Given the description of an element on the screen output the (x, y) to click on. 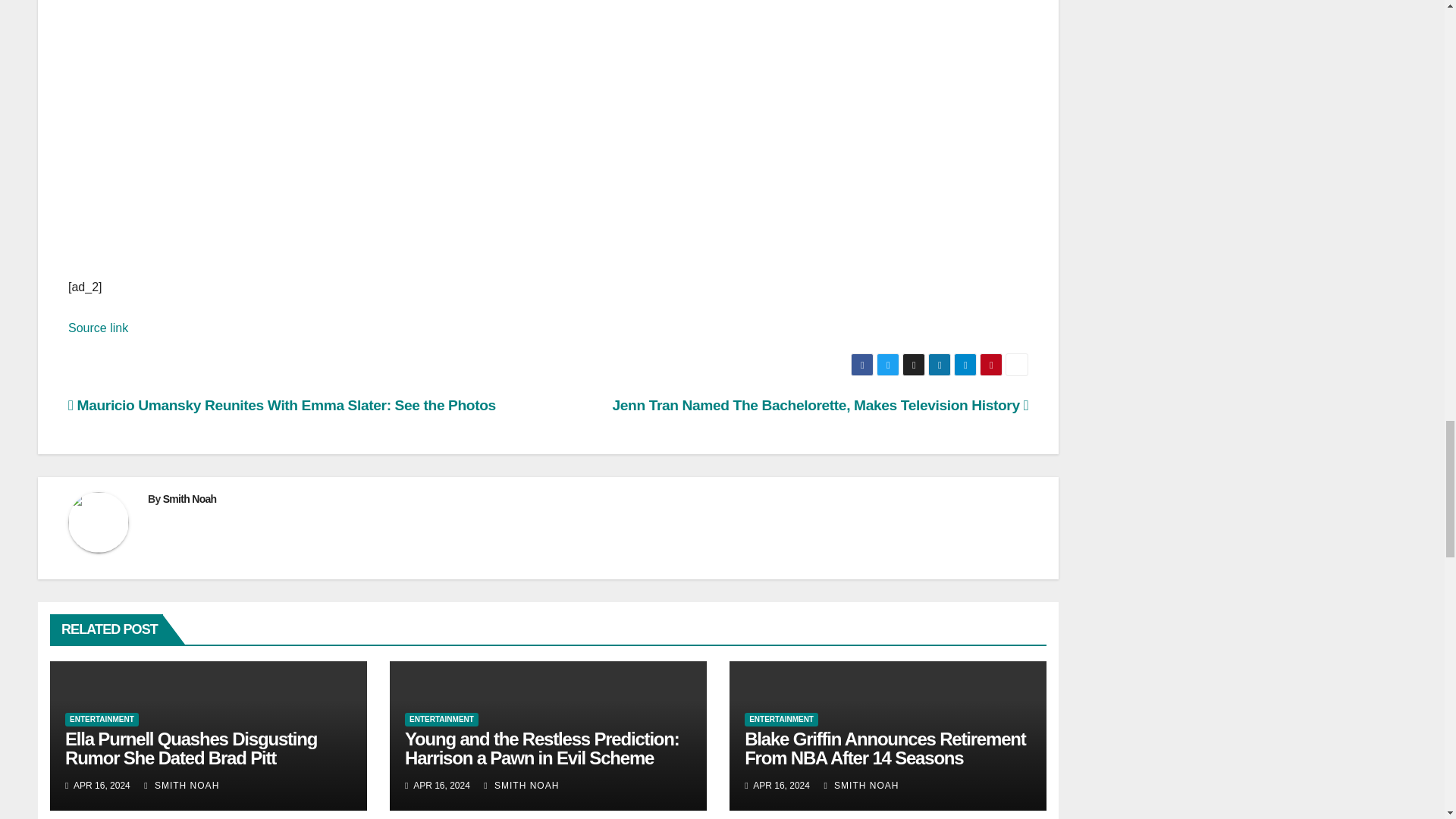
Source link (98, 327)
